Given the description of an element on the screen output the (x, y) to click on. 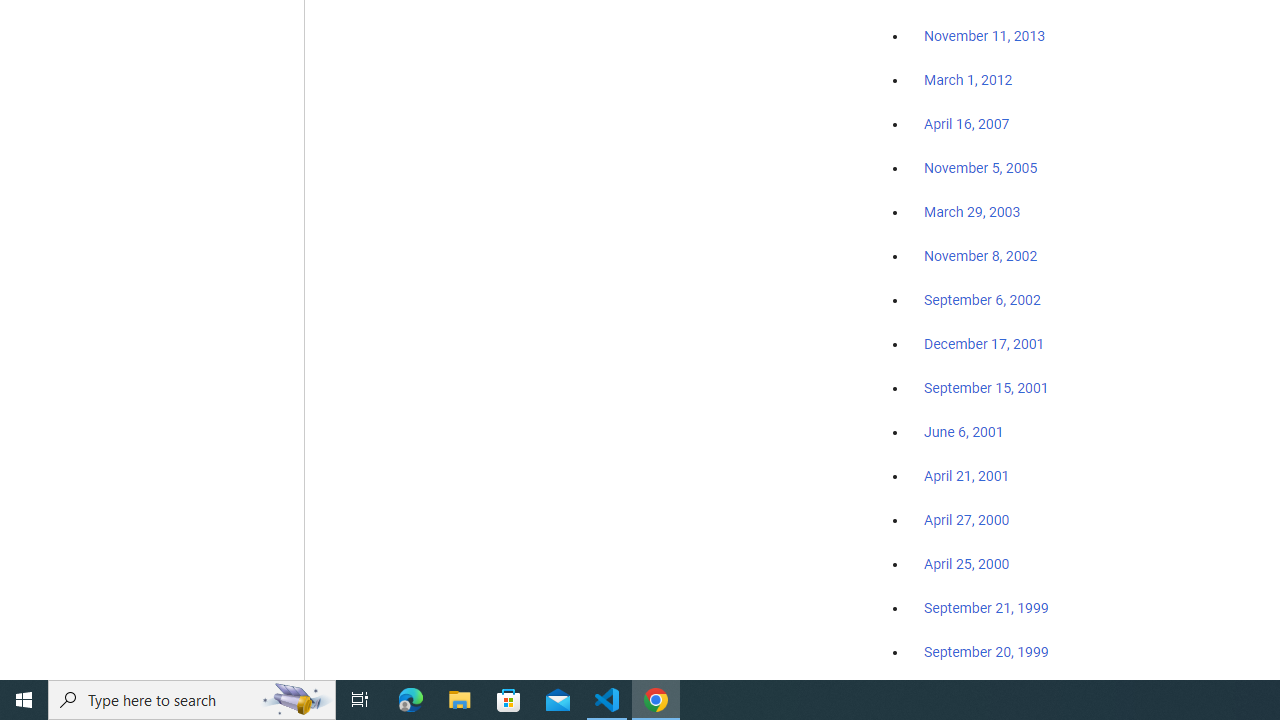
April 21, 2001 (966, 476)
November 8, 2002 (981, 255)
November 5, 2005 (981, 168)
September 21, 1999 (986, 608)
March 1, 2012 (968, 81)
June 6, 2001 (963, 431)
March 29, 2003 (972, 212)
December 17, 2001 (984, 343)
November 11, 2013 (984, 37)
April 27, 2000 (966, 520)
April 16, 2007 (966, 124)
September 15, 2001 (986, 387)
September 6, 2002 (982, 299)
September 20, 1999 (986, 651)
April 25, 2000 (966, 564)
